Given the description of an element on the screen output the (x, y) to click on. 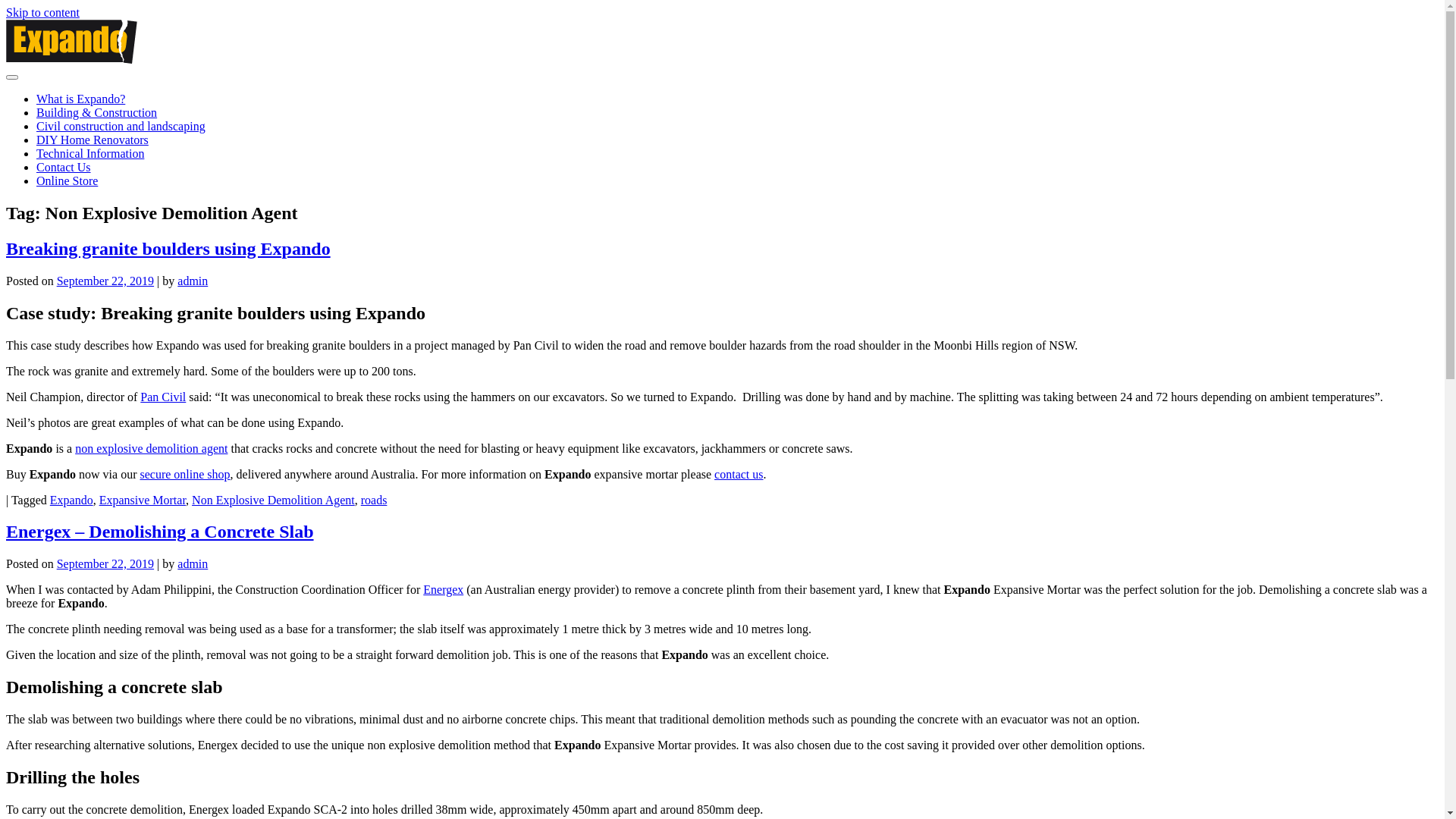
contact us Element type: text (738, 473)
DIY Home Renovators Element type: text (92, 139)
Breaking granite boulders using Expando Element type: text (168, 248)
Civil construction and landscaping Element type: text (120, 125)
Pan Civil Element type: text (162, 396)
Expando Element type: text (71, 499)
September 22, 2019 Element type: text (104, 563)
Expansive Mortar Element type: text (142, 499)
roads Element type: text (373, 499)
September 22, 2019 Element type: text (104, 280)
secure online shop Element type: text (184, 473)
Building & Construction Element type: text (96, 112)
Energex Element type: text (443, 589)
admin Element type: text (192, 280)
Technical Information Element type: text (90, 153)
What is Expando? Element type: text (80, 98)
Non Explosive Demolition Agent Element type: text (272, 499)
Contact Us Element type: text (63, 166)
non explosive demolition agent Element type: text (151, 448)
admin Element type: text (192, 563)
Online Store Element type: text (66, 180)
Skip to content Element type: text (42, 12)
